Given the description of an element on the screen output the (x, y) to click on. 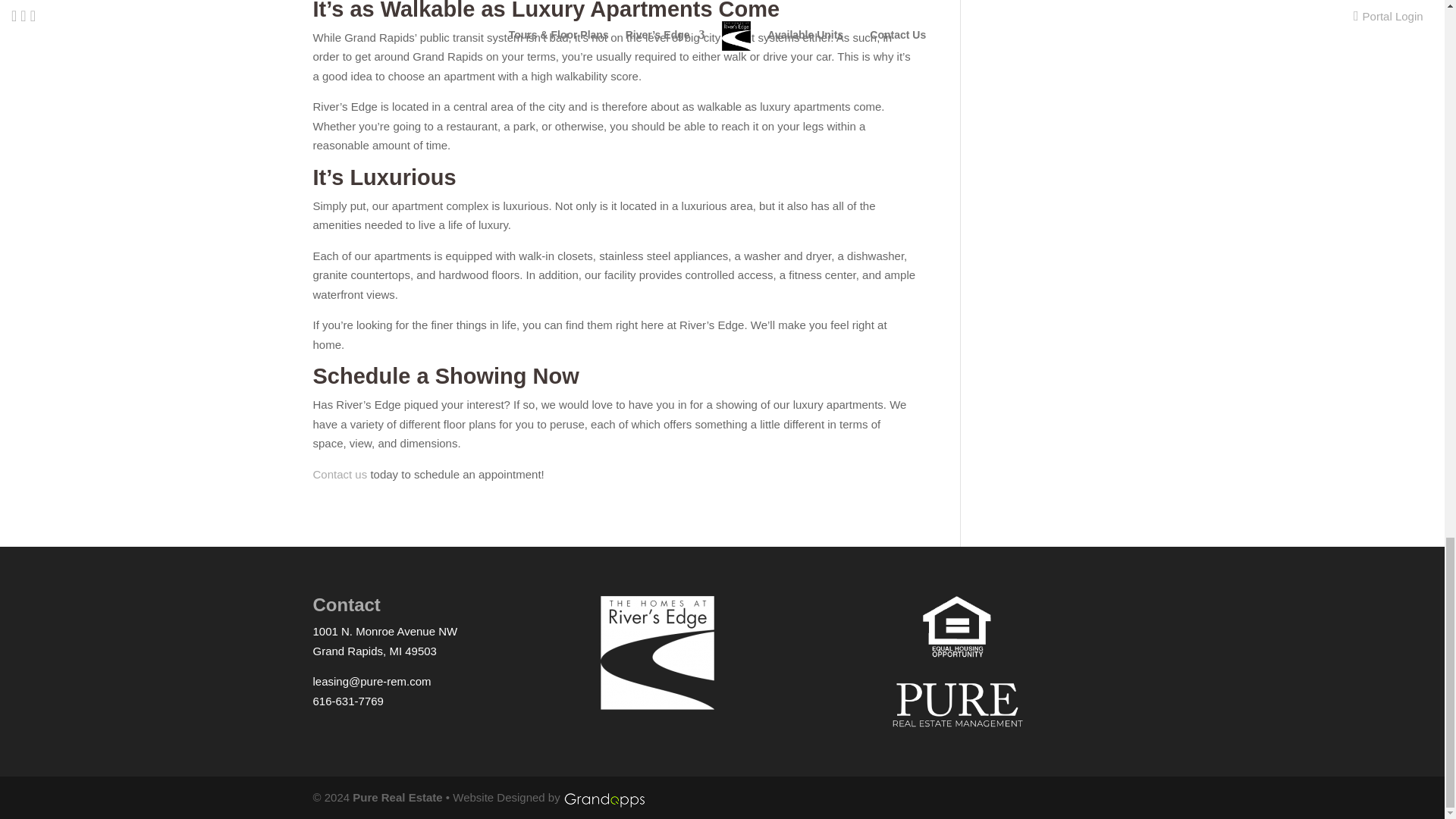
616-631-7769 (347, 700)
Pure Real Estate (397, 797)
Contact us (339, 473)
